Given the description of an element on the screen output the (x, y) to click on. 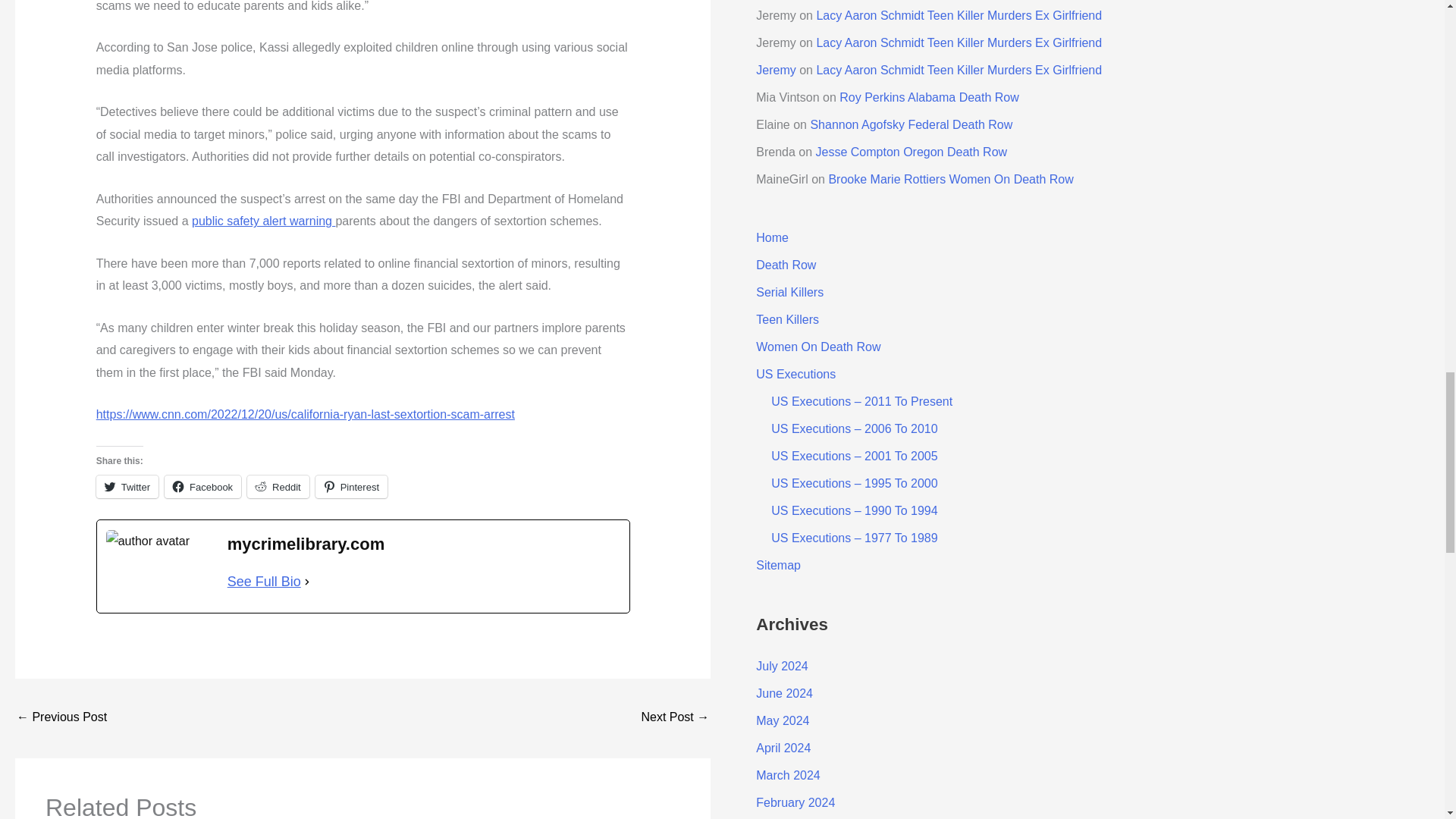
Click to share on Facebook (202, 486)
Francesco Villi Kills 5 In Vaughn Condo Shooting (61, 718)
Click to share on Reddit (277, 486)
Click to share on Pinterest (351, 486)
Click to share on Twitter (127, 486)
